Given the description of an element on the screen output the (x, y) to click on. 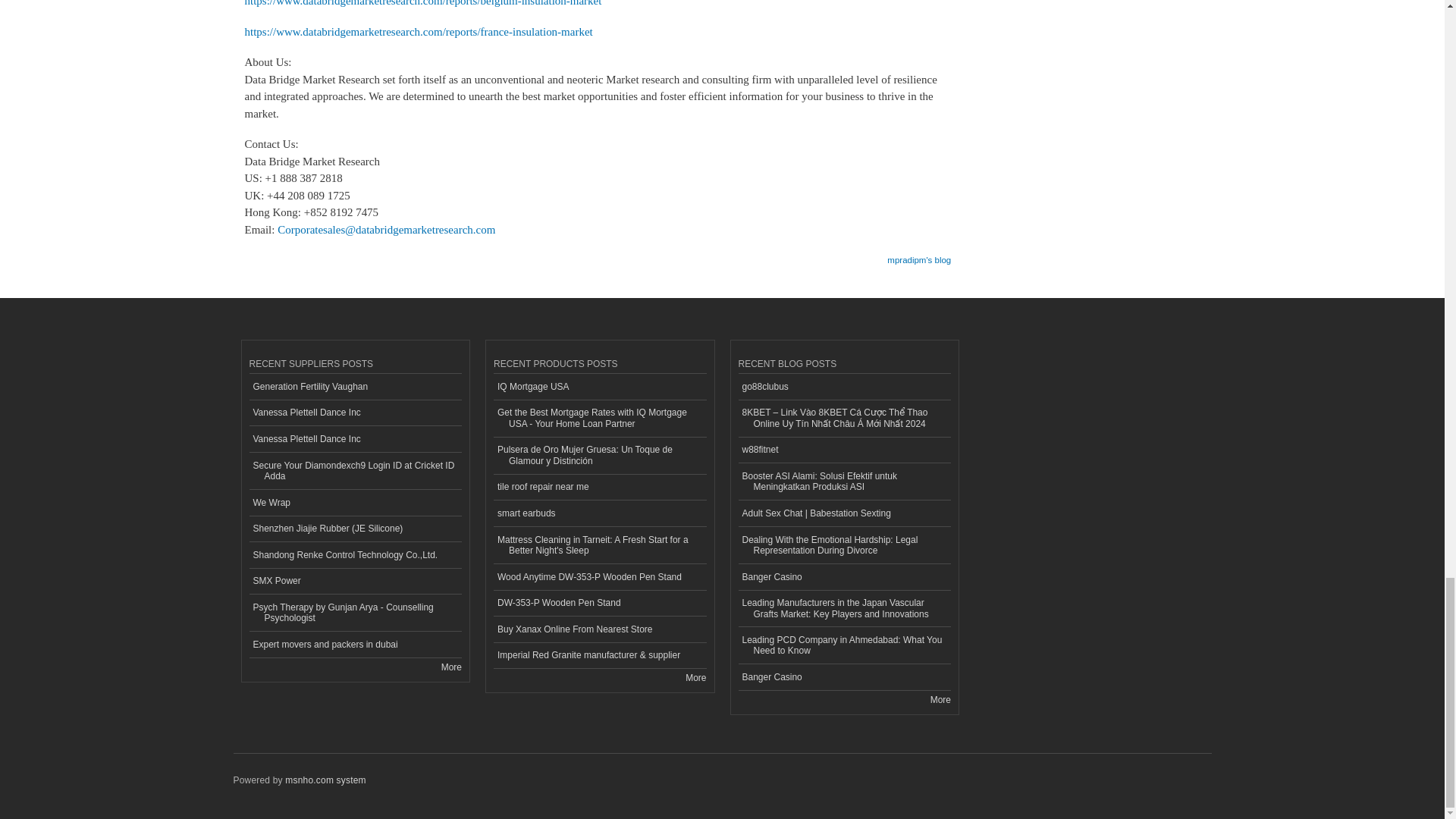
Secure Your Diamondexch9 Login ID at Cricket ID Adda (354, 470)
Read the latest suppliers entries. (451, 666)
We Wrap (354, 502)
SMX Power (354, 581)
mpradipm's blog (918, 254)
Read the latest blog entries. (940, 699)
Read mpradipm's latest blog entries. (918, 254)
Vanessa Plettell Dance Inc (354, 438)
Shandong Renke Control Technology Co.,Ltd. (354, 555)
Read the latest products entries. (695, 677)
